Given the description of an element on the screen output the (x, y) to click on. 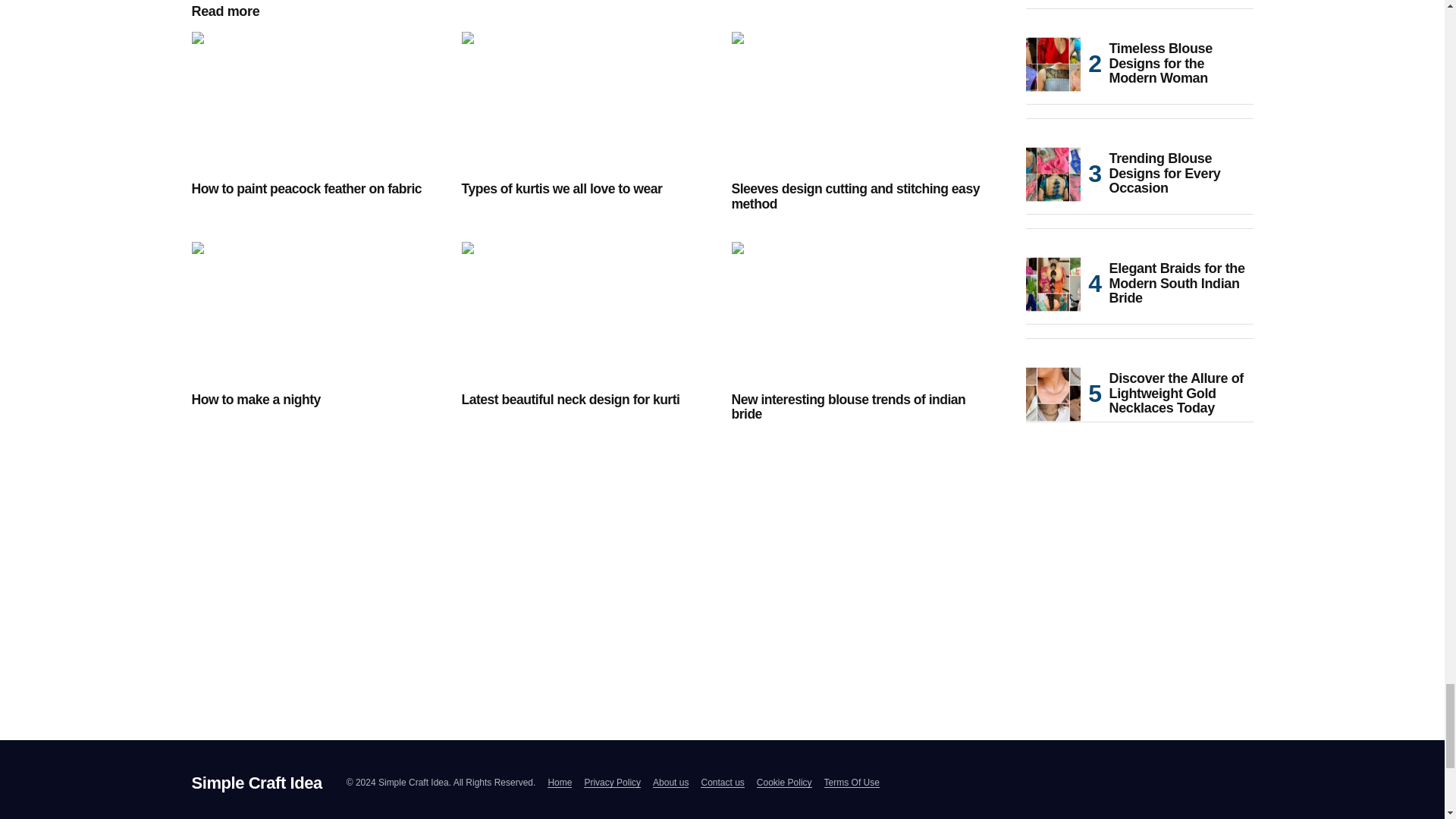
How to make a nighty (316, 312)
Sleeves design cutting and stitching easy method (856, 102)
Latest beautiful neck design for kurti (587, 312)
Types of kurtis we all love to wear (587, 102)
New interesting blouse trends of indian bride (856, 312)
How to paint peacock feather on fabric (316, 102)
